Given the description of an element on the screen output the (x, y) to click on. 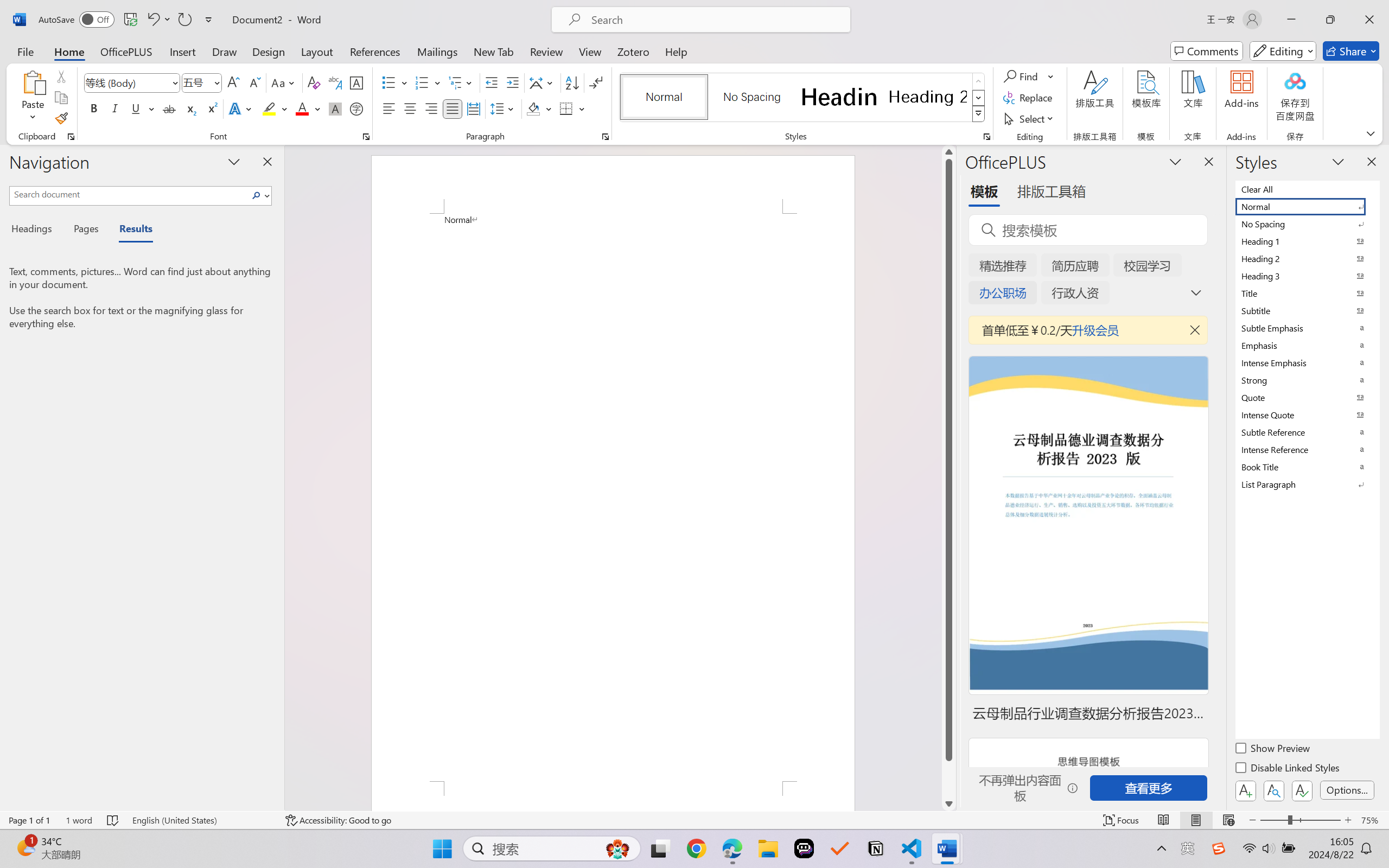
Class: MsoCommandBar (694, 819)
Font Size (201, 82)
Phonetic Guide... (334, 82)
Search document (128, 193)
Show Preview (1273, 749)
Comments (1206, 50)
Align Right (431, 108)
Numbering (428, 82)
